Given the description of an element on the screen output the (x, y) to click on. 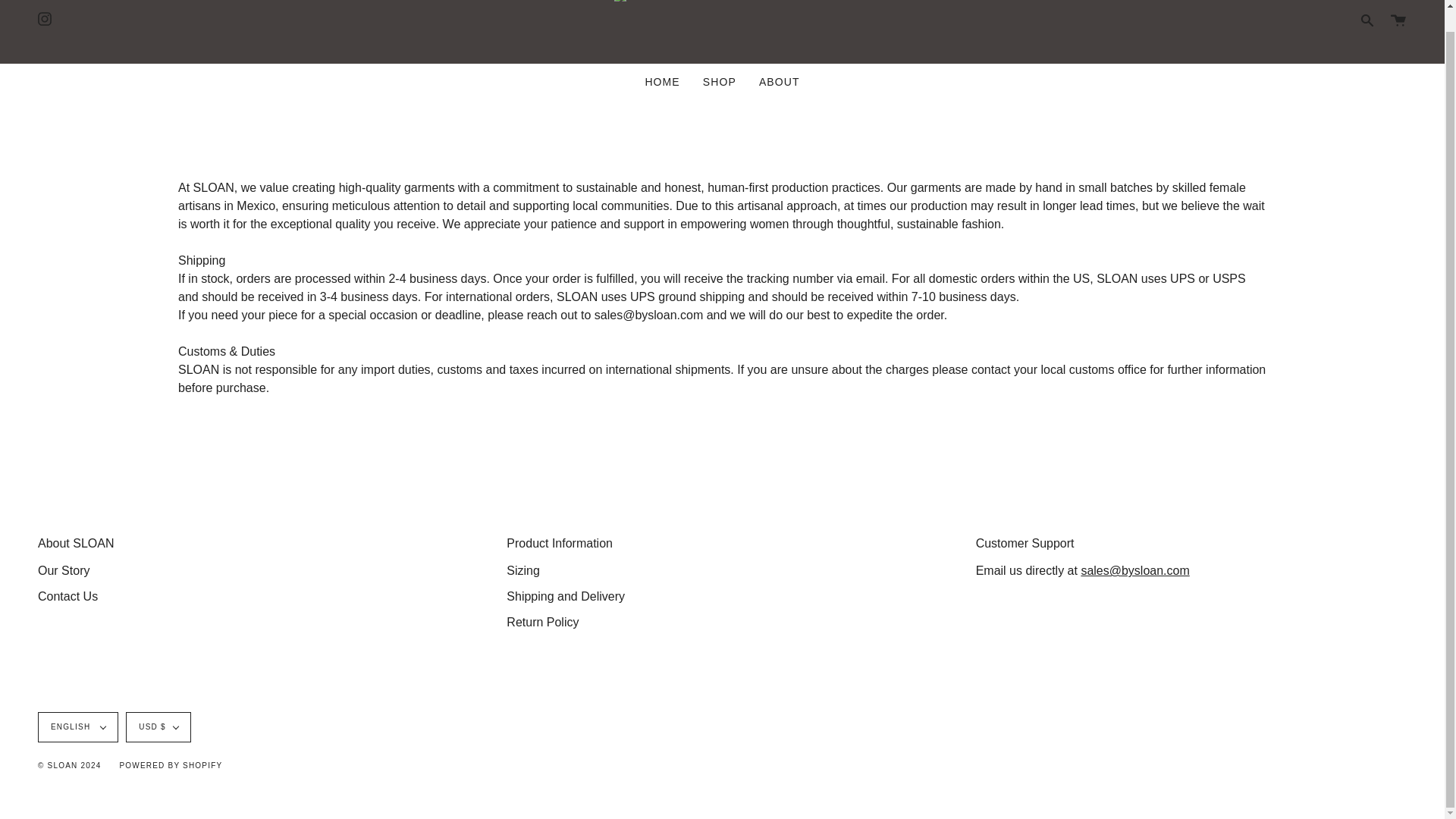
HOME (661, 81)
SHOP (719, 81)
ABOUT (779, 81)
